Given the description of an element on the screen output the (x, y) to click on. 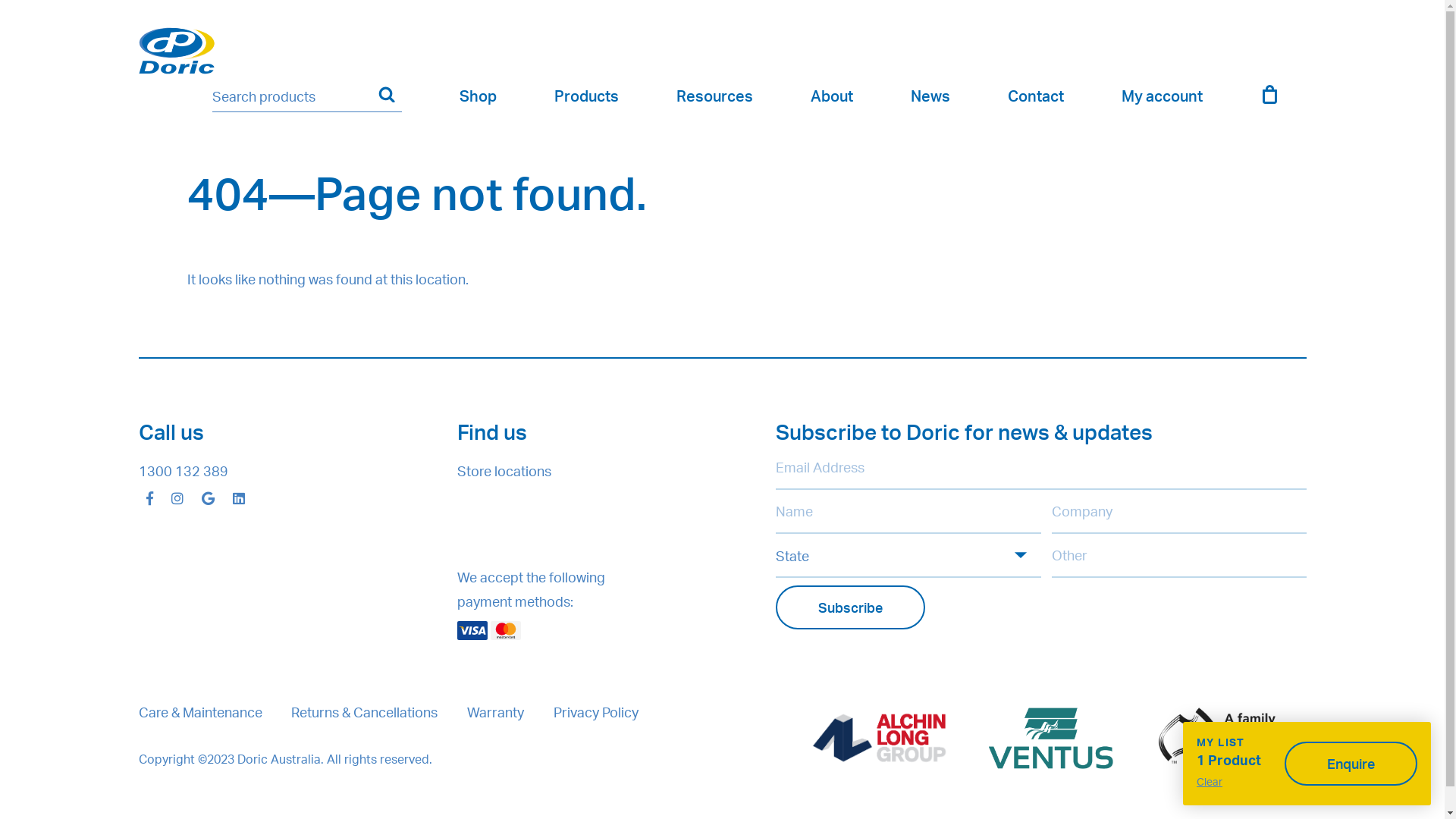
Contact Element type: text (1035, 95)
Clear Element type: text (1228, 781)
Warranty Element type: text (495, 711)
Resources Element type: text (714, 95)
Care & Maintenance Element type: text (199, 711)
Enquire Element type: text (1350, 763)
Privacy Policy Element type: text (595, 711)
News Element type: text (930, 95)
My account Element type: text (1161, 95)
About Element type: text (831, 95)
Shop Element type: text (477, 95)
Search Element type: text (387, 94)
Cart Element type: text (1269, 98)
Store locations Element type: text (503, 470)
Subscribe Element type: text (849, 607)
1300 132 389 Element type: text (182, 470)
Returns & Cancellations Element type: text (364, 711)
Products Element type: text (586, 95)
Doric | Innovators of Hardware for Windows & Doors Element type: text (175, 50)
